Given the description of an element on the screen output the (x, y) to click on. 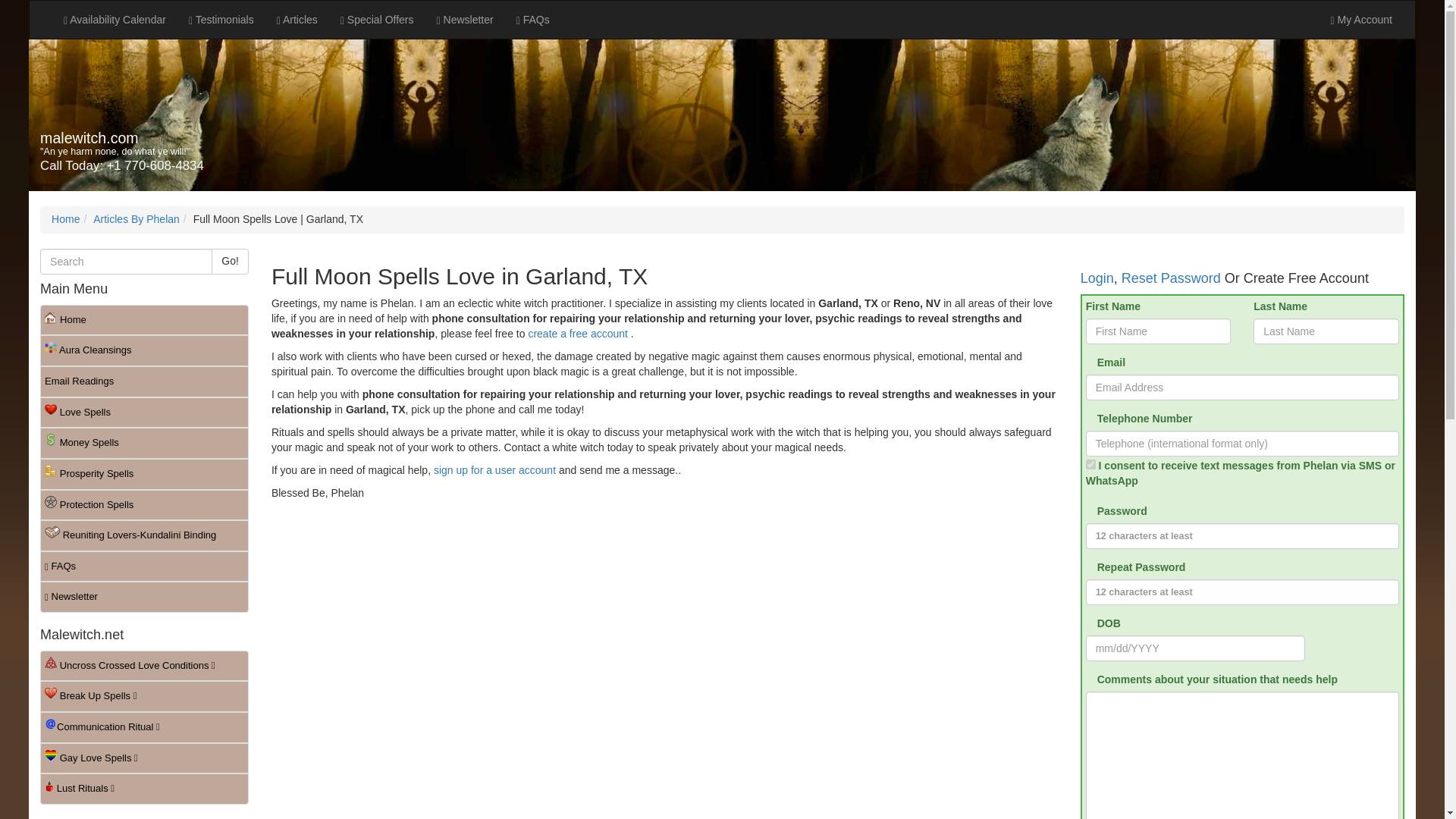
protection spells (144, 504)
prosperity spells (144, 473)
love spells (144, 412)
Lust Rituals (144, 788)
aura cleansings (144, 350)
Newsletter (144, 596)
Money Spells (144, 442)
Communication Ritual (144, 726)
FAQs (532, 19)
male witch (89, 137)
